Given the description of an element on the screen output the (x, y) to click on. 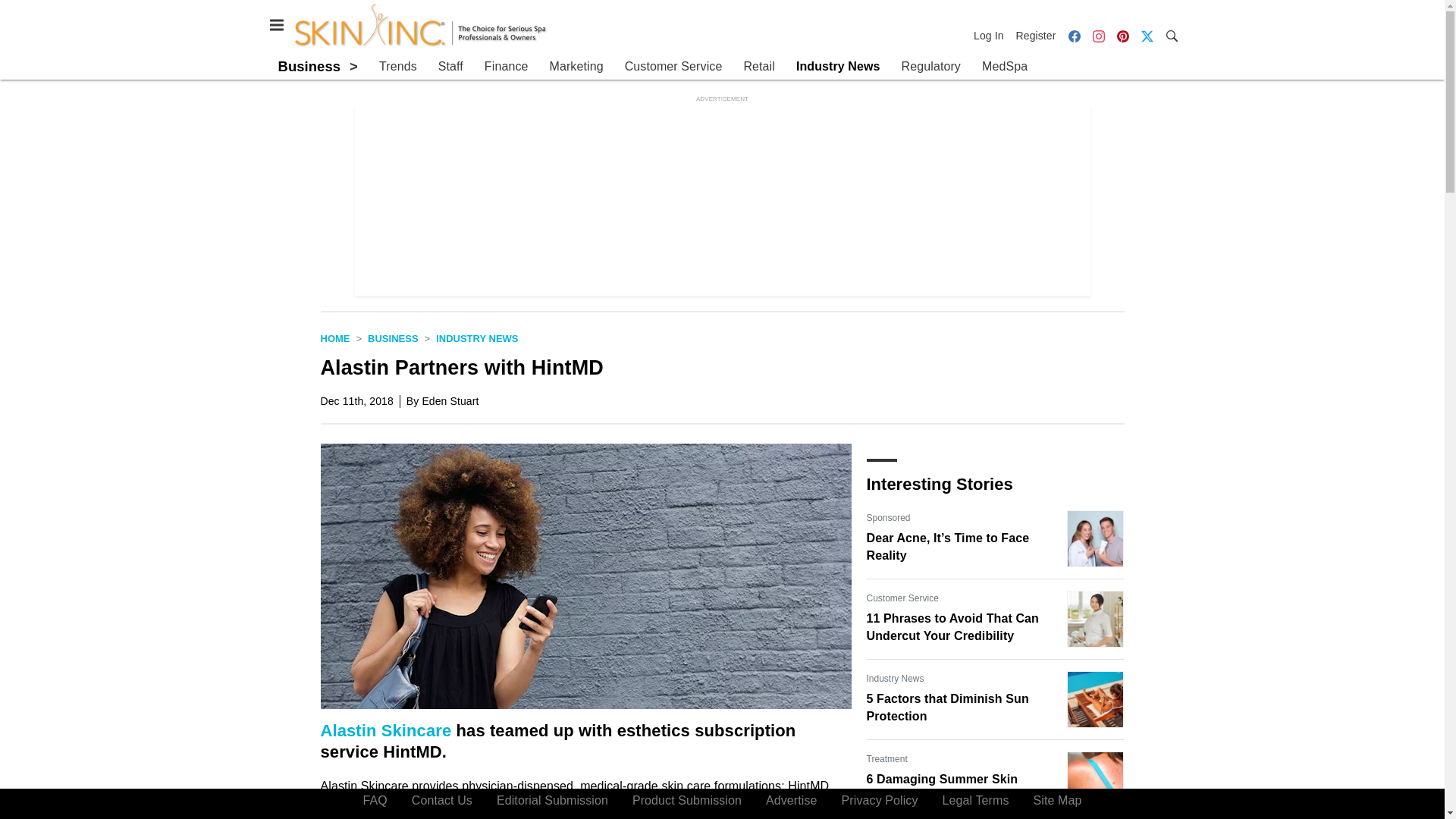
Facebook icon (1073, 36)
Finance (506, 66)
Regulatory (930, 66)
Trends (397, 66)
Retail (758, 66)
Instagram icon (1097, 35)
Business (309, 65)
Search (1170, 34)
Pinterest icon (1121, 35)
Sponsored (888, 517)
